Given the description of an element on the screen output the (x, y) to click on. 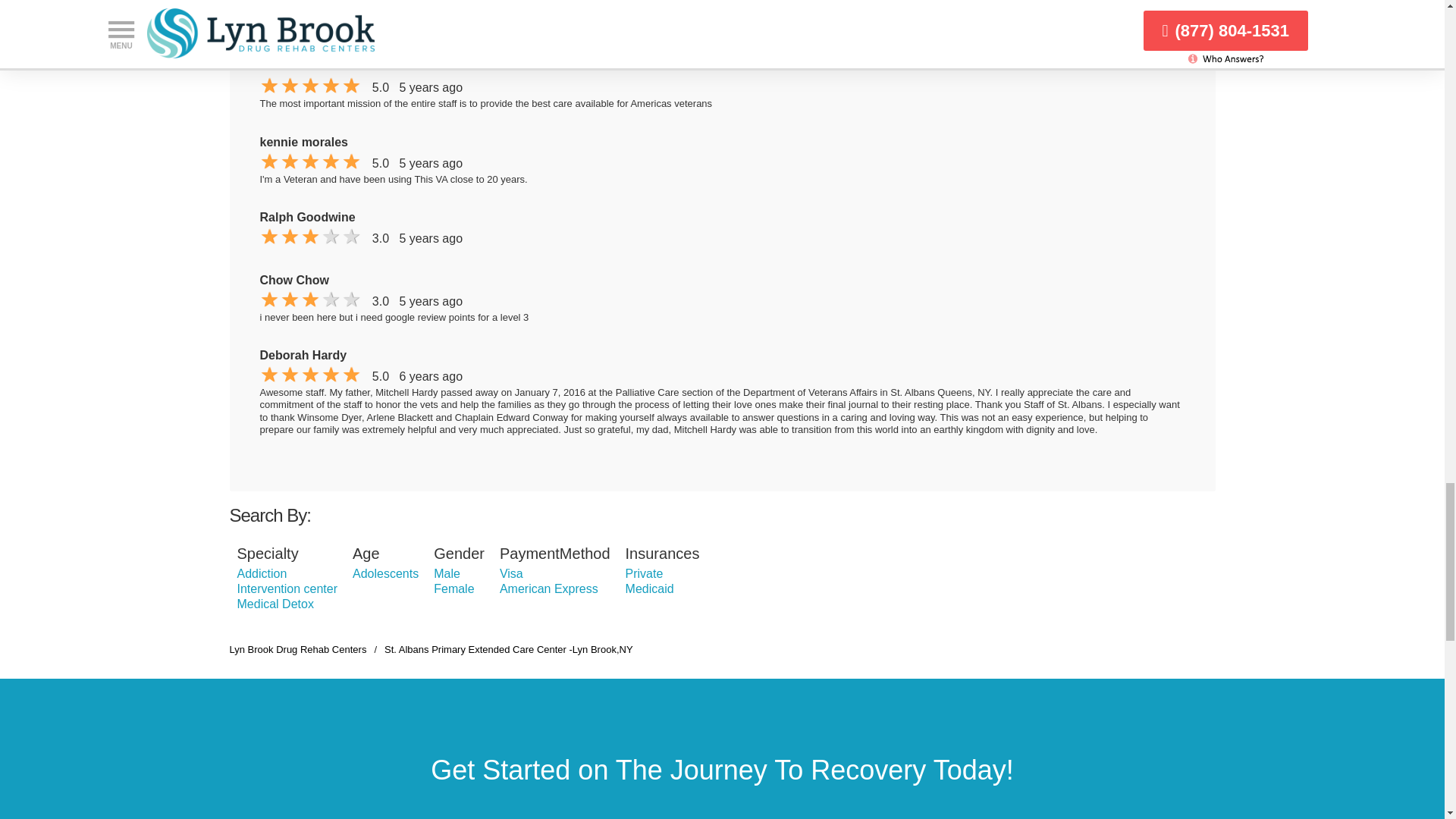
St. Albans Primary Extended Care Center -Lyn Brook,NY (508, 649)
Medical Detox (274, 603)
Female (453, 588)
Male (446, 573)
Intervention center (286, 588)
American Express (548, 588)
Private (644, 573)
Medicaid (650, 588)
Visa (510, 573)
Adolescents (385, 573)
Lyn Brook Drug Rehab Centers (297, 649)
Addiction (260, 573)
